Given the description of an element on the screen output the (x, y) to click on. 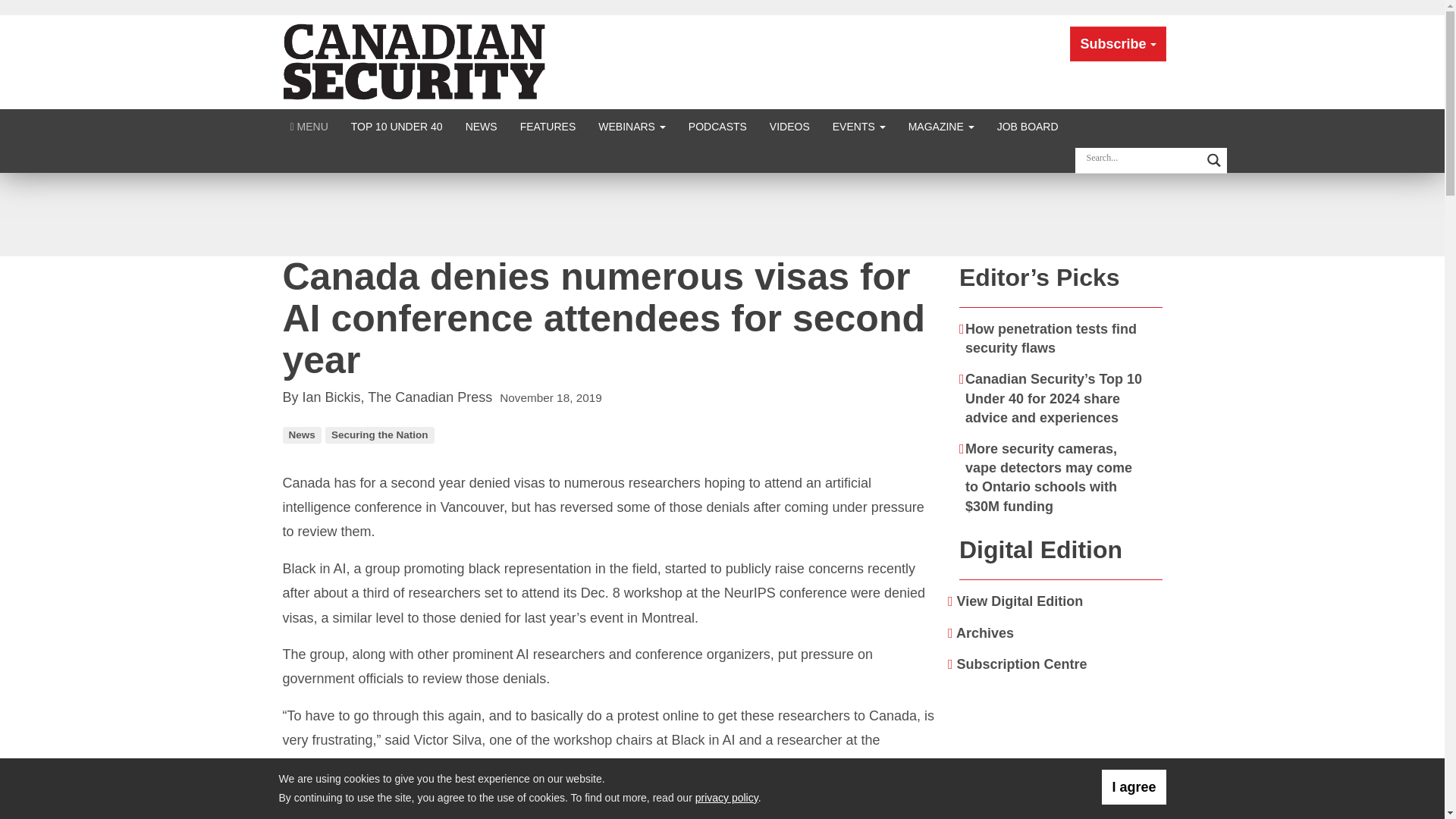
VIDEOS (789, 125)
WEBINARS (631, 125)
MENU (309, 125)
NEWS (481, 125)
Click to show site navigation (309, 125)
TOP 10 UNDER 40 (396, 125)
Canadian Security Magazine (415, 61)
EVENTS (858, 125)
3rd party ad content (721, 214)
PODCASTS (717, 125)
JOB BOARD (1027, 125)
FEATURES (548, 125)
Subscribe (1118, 43)
MAGAZINE (940, 125)
